Given the description of an element on the screen output the (x, y) to click on. 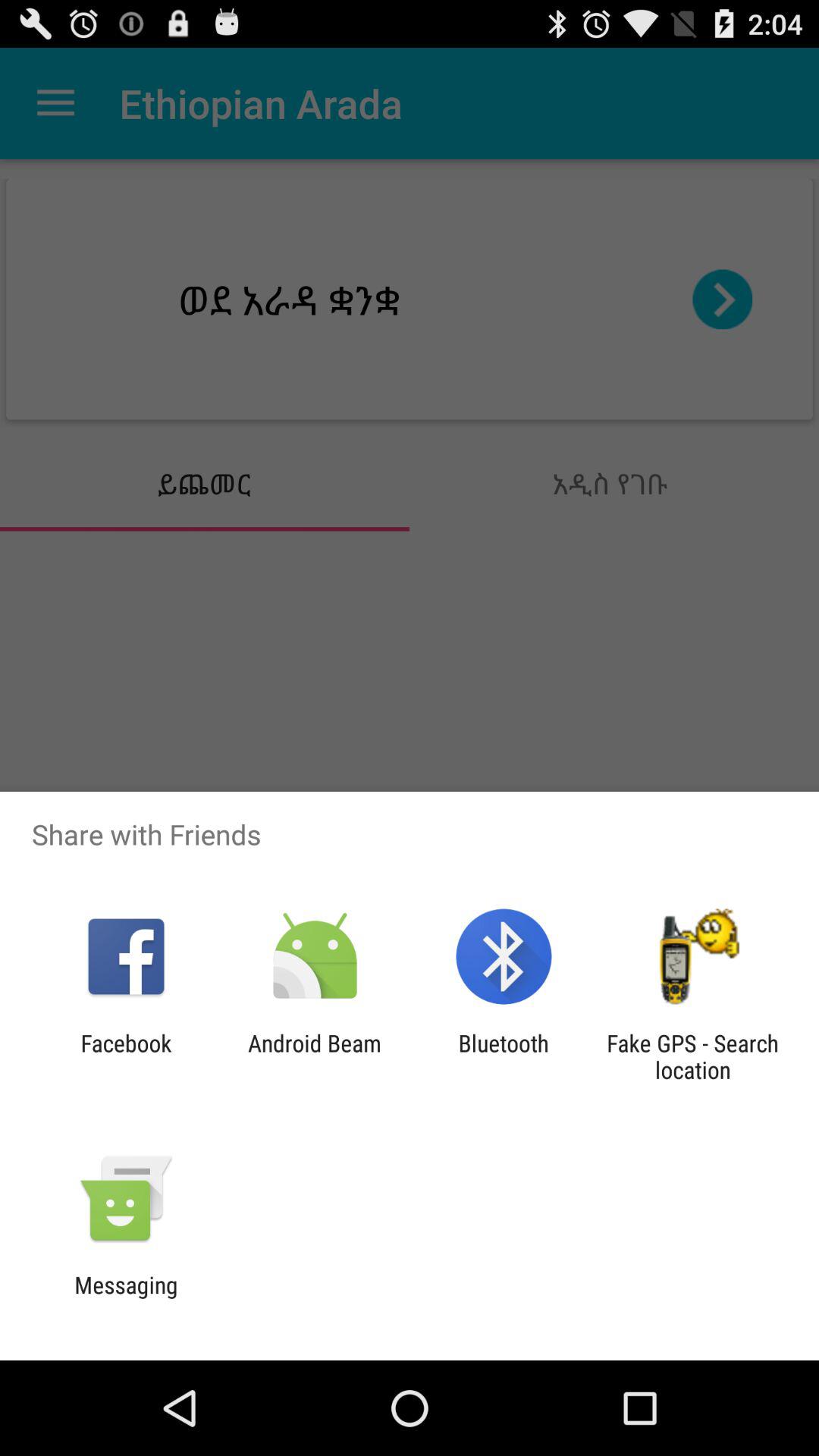
press the android beam (314, 1056)
